Given the description of an element on the screen output the (x, y) to click on. 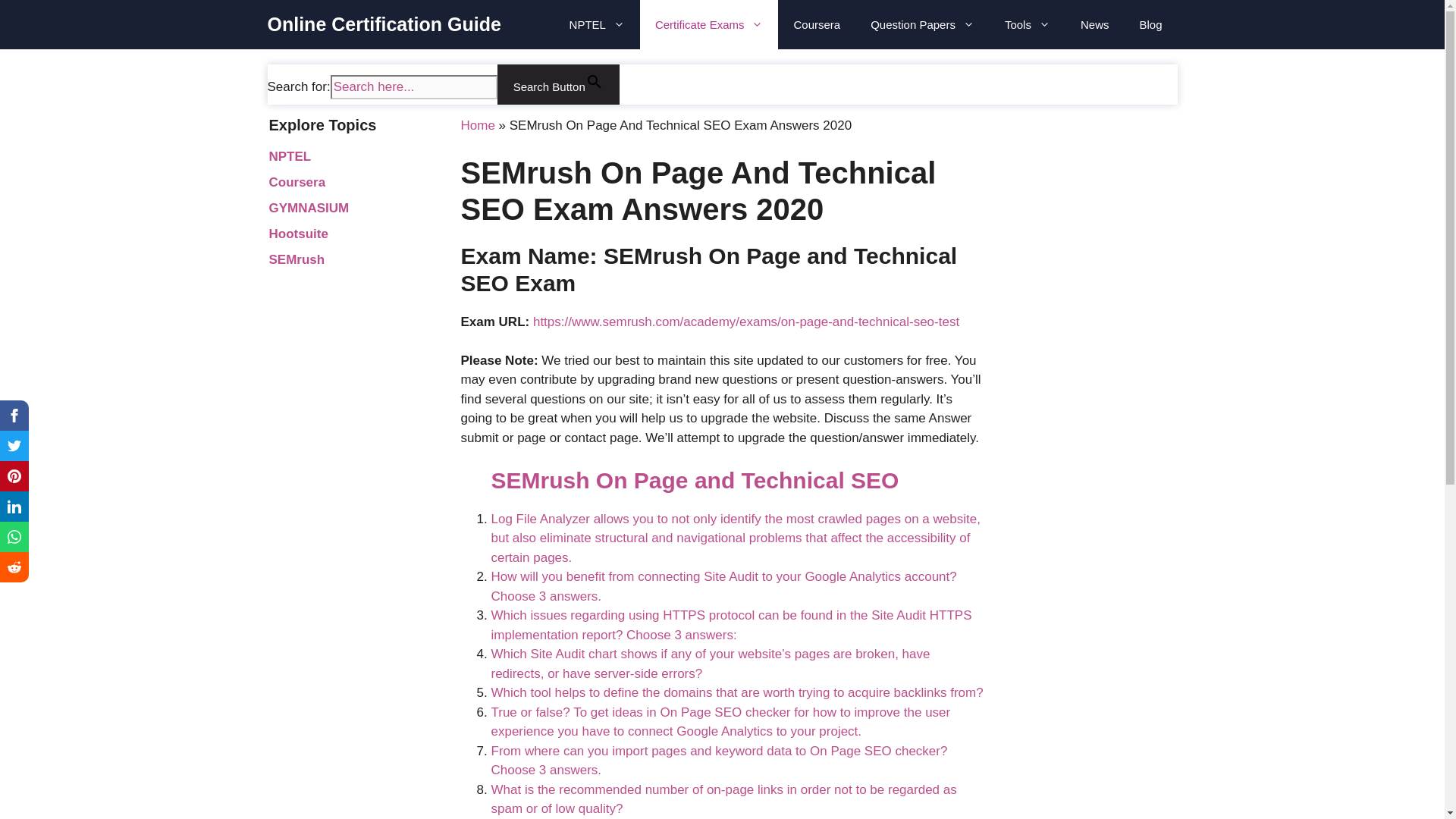
Online Certification Guide (383, 24)
Certificate Exams (709, 24)
NPTEL (597, 24)
